Given the description of an element on the screen output the (x, y) to click on. 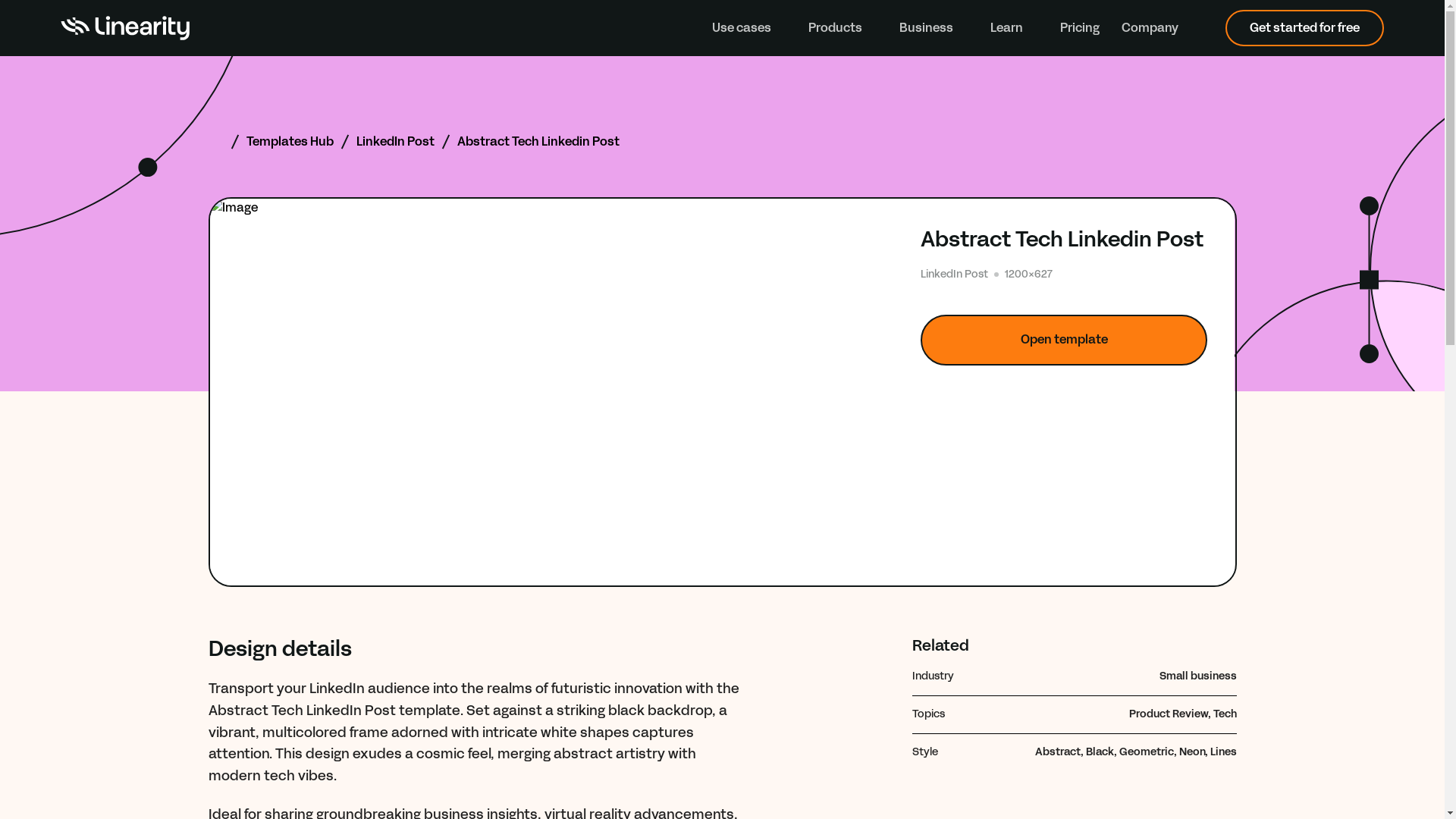
LinkedIn Post (394, 141)
Use cases (748, 27)
Get started for free (1304, 27)
Open template (1064, 339)
Products (842, 27)
Pricing (1079, 27)
Templates Hub (289, 141)
Company (1157, 27)
Business (933, 27)
Learn (1014, 27)
